Given the description of an element on the screen output the (x, y) to click on. 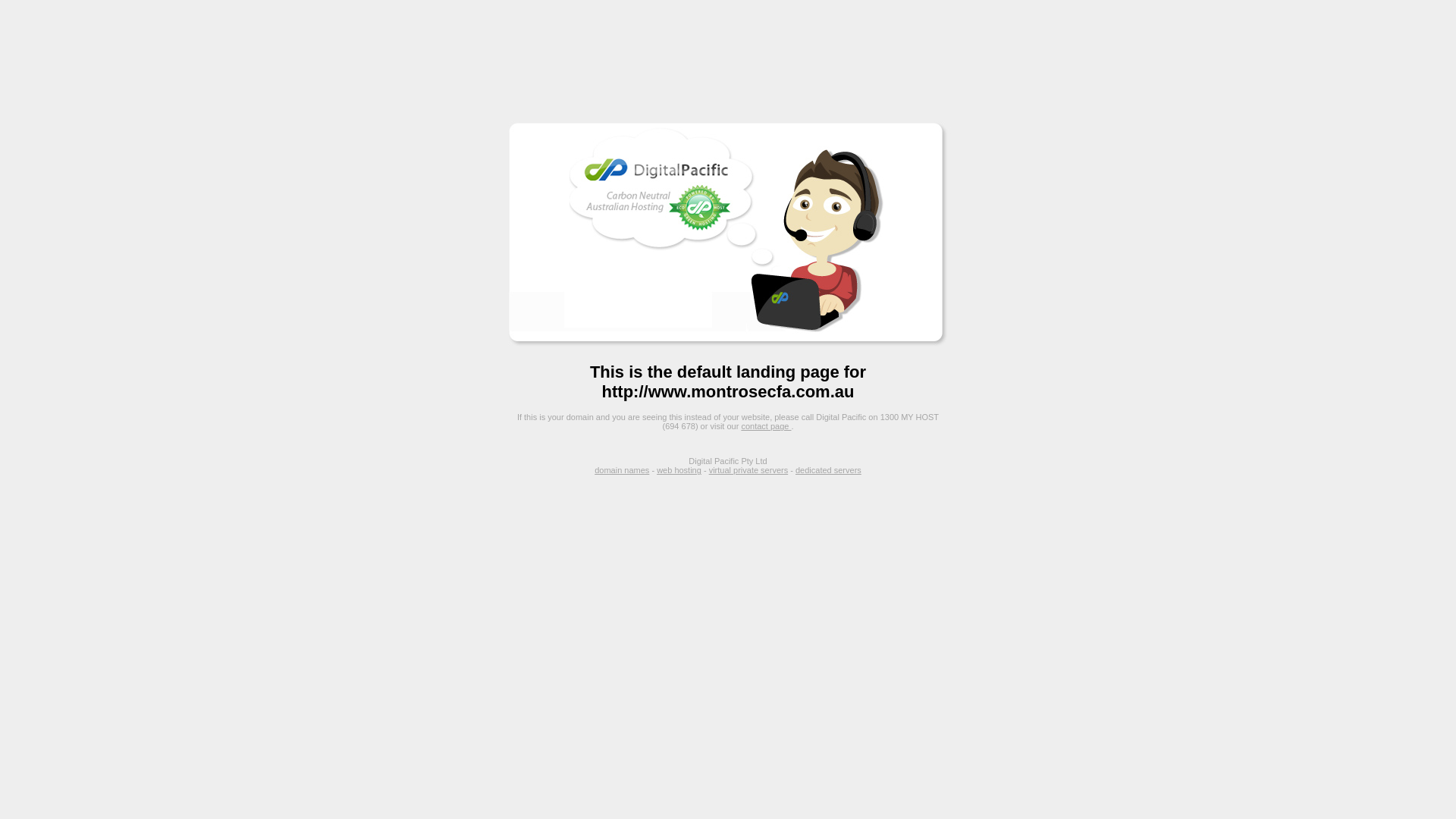
dedicated servers Element type: text (828, 469)
virtual private servers Element type: text (748, 469)
web hosting Element type: text (678, 469)
domain names Element type: text (621, 469)
contact page Element type: text (765, 425)
